Given the description of an element on the screen output the (x, y) to click on. 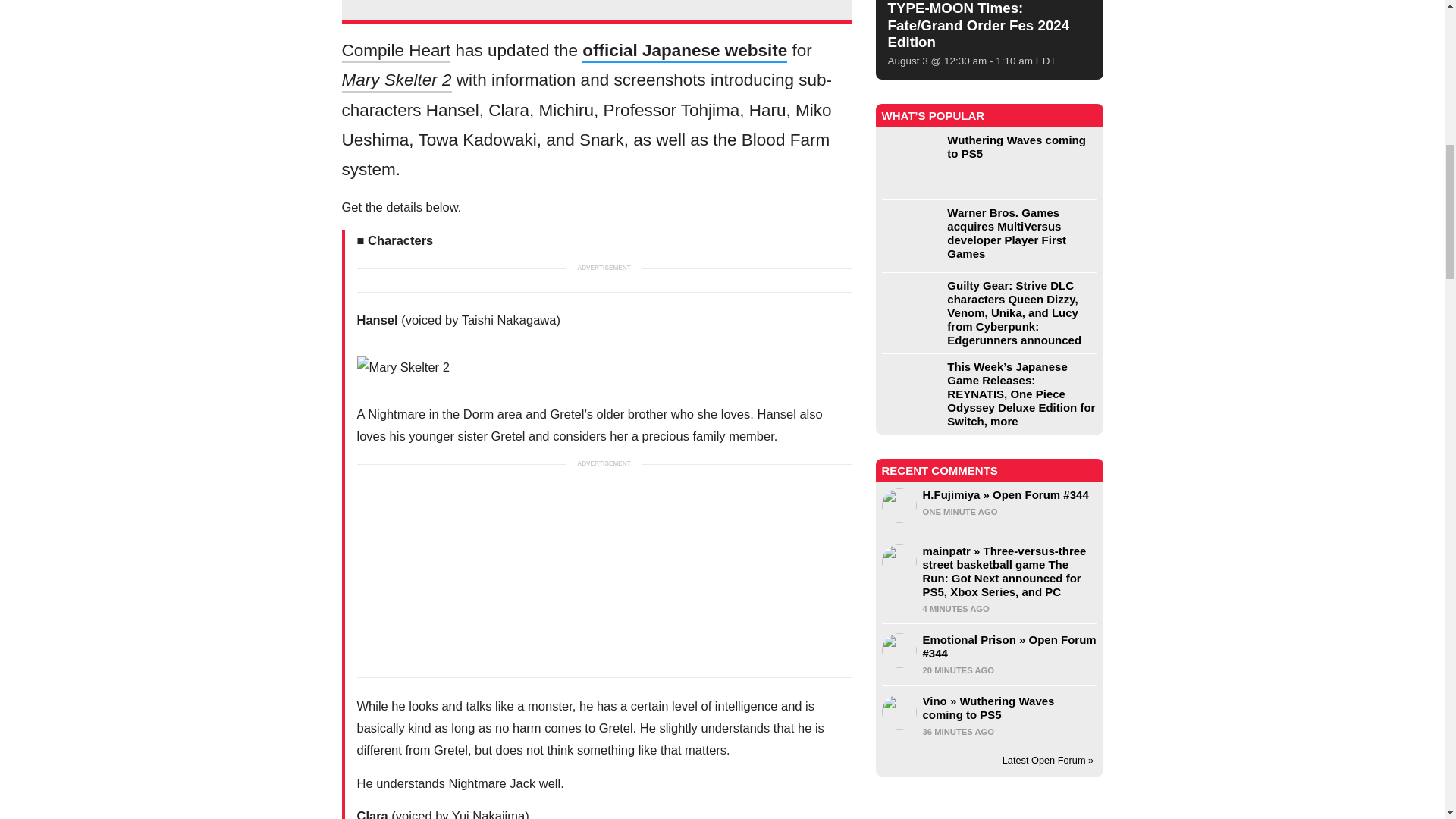
Mary Skelter 2 (603, 367)
